Given the description of an element on the screen output the (x, y) to click on. 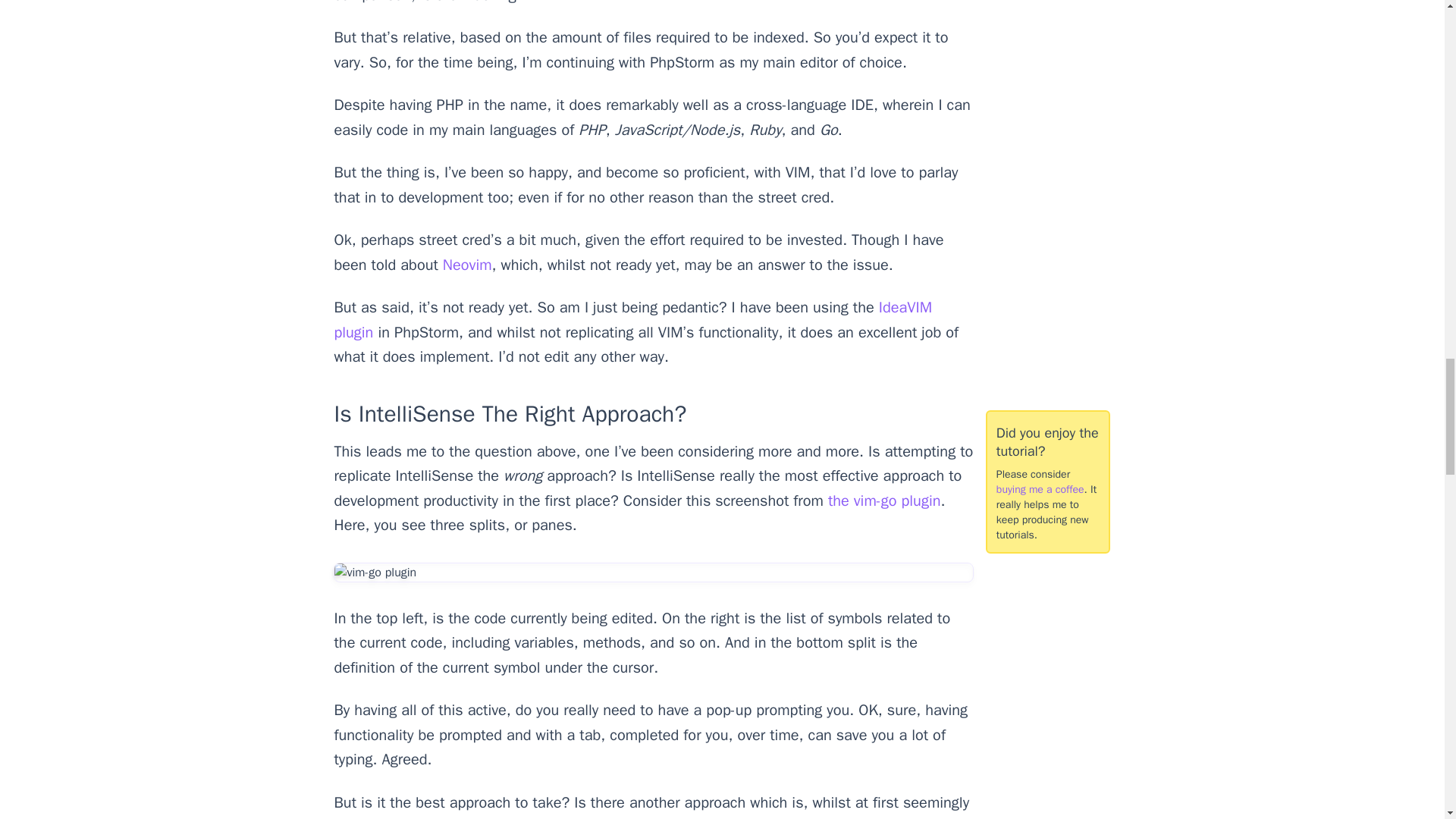
Neovim (467, 264)
